Given the description of an element on the screen output the (x, y) to click on. 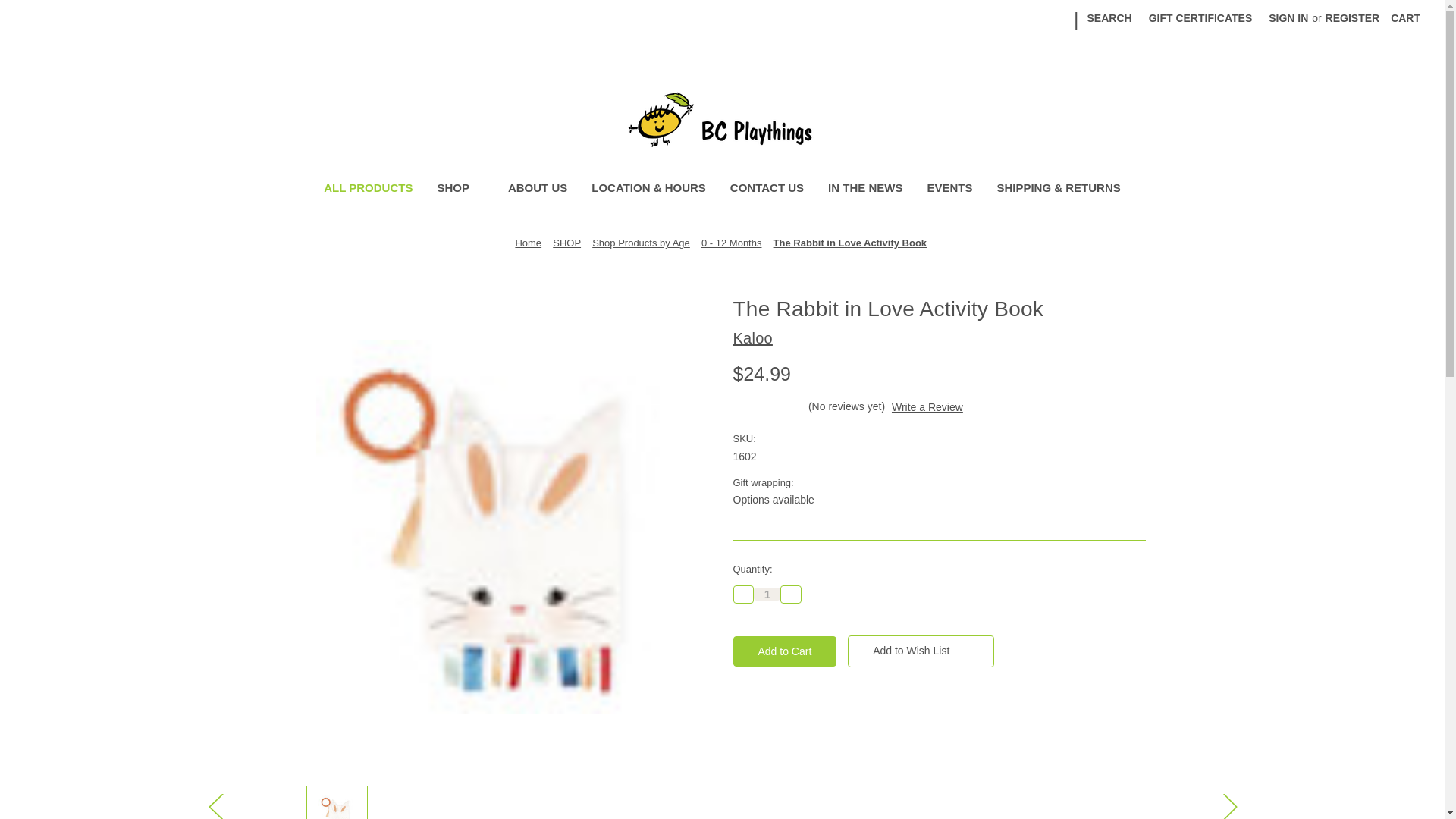
ABOUT US (537, 189)
Shop Products by Age (641, 242)
BC Playthings (721, 119)
The Rabbit in Love Activity Book (849, 242)
REGISTER (1353, 18)
CONTACT US (766, 189)
Home (528, 242)
SHOP (460, 189)
EVENTS (949, 189)
The Rabbit in Love Activity Book (337, 803)
GIFT CERTIFICATES (1200, 18)
Write a Review (926, 407)
CART (1404, 18)
0 - 12 Months (731, 242)
ALL PRODUCTS (368, 189)
